Given the description of an element on the screen output the (x, y) to click on. 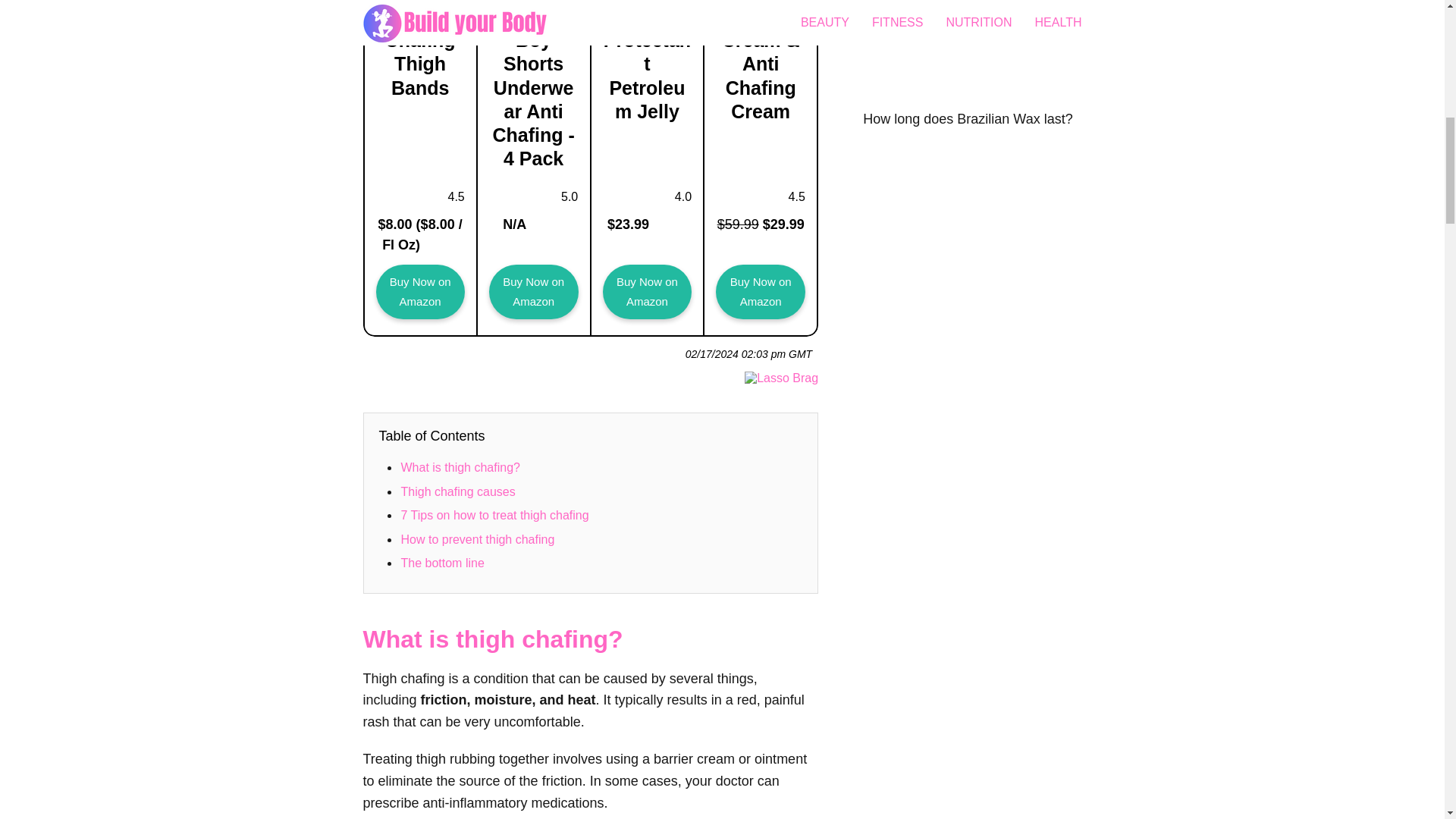
7 Tips on how to treat thigh chafing (494, 514)
Buy Now on Amazon (760, 292)
Thigh chafing causes (457, 491)
Buy Now on Amazon (647, 292)
How to prevent thigh chafing (477, 539)
Original Elastic Anti-Chafing Thigh Bands (419, 292)
What is thigh chafing? (459, 467)
Olive Babies Skin Protectant Petroleum Jelly (647, 292)
Buy Now on Amazon (533, 292)
The bottom line (441, 562)
Buy Now on Amazon (419, 292)
